Given the description of an element on the screen output the (x, y) to click on. 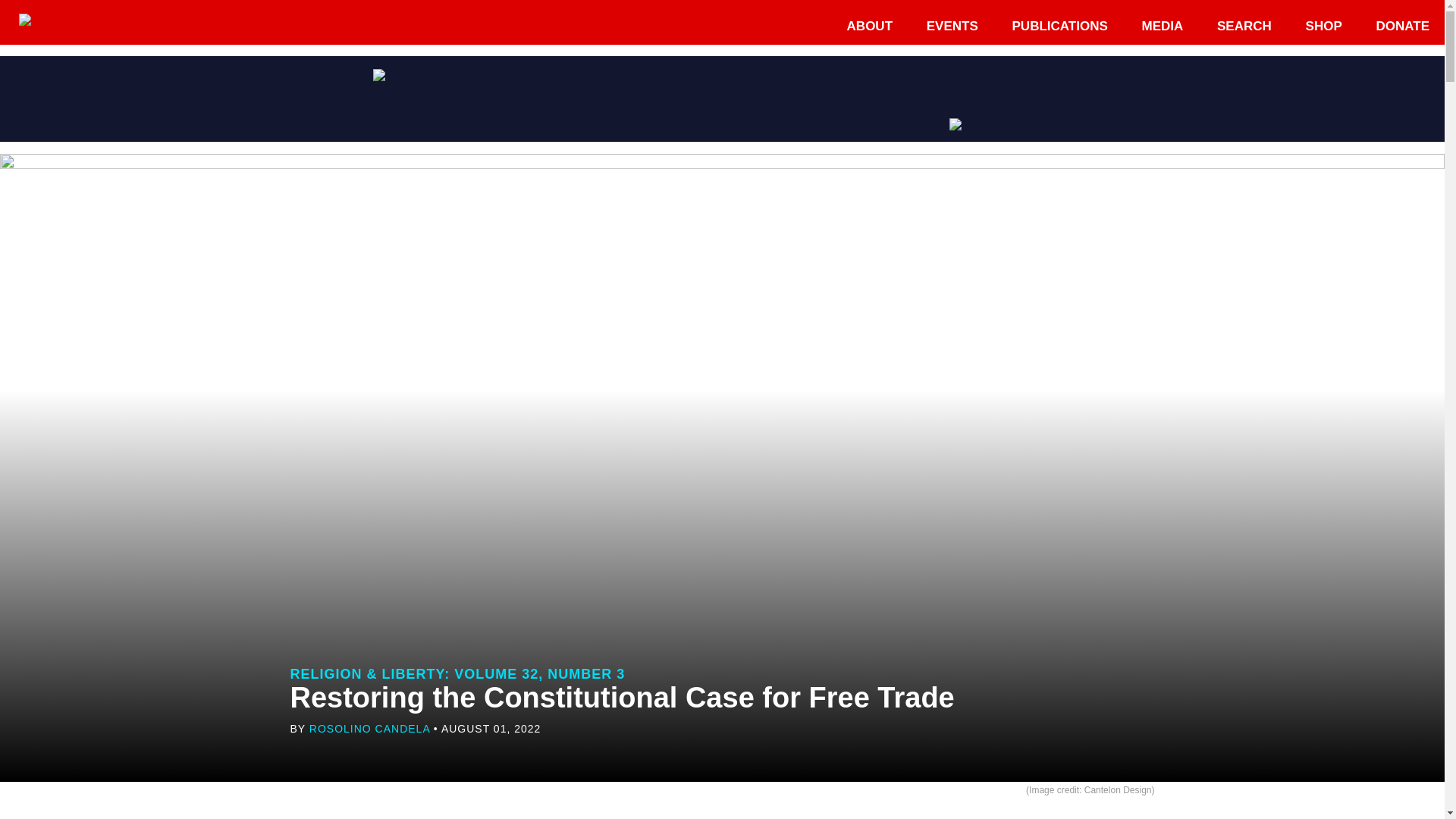
About (869, 26)
PUBLICATIONS (1059, 26)
EVENTS (951, 26)
Publications (1059, 26)
ABOUT (869, 26)
MEDIA (1162, 26)
Events (951, 26)
